Given the description of an element on the screen output the (x, y) to click on. 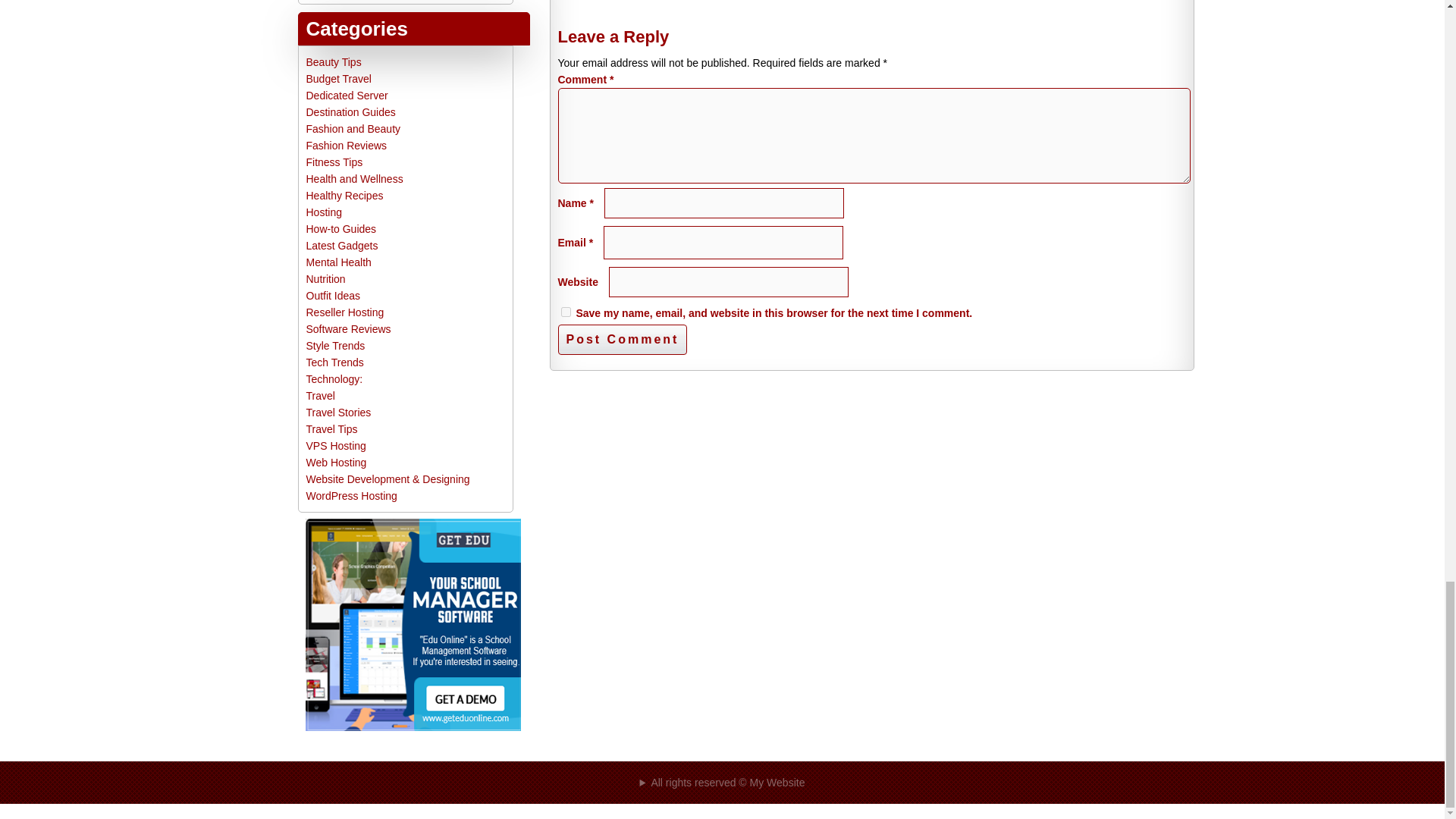
yes (565, 311)
Post Comment (622, 339)
Post Comment (622, 339)
